Given the description of an element on the screen output the (x, y) to click on. 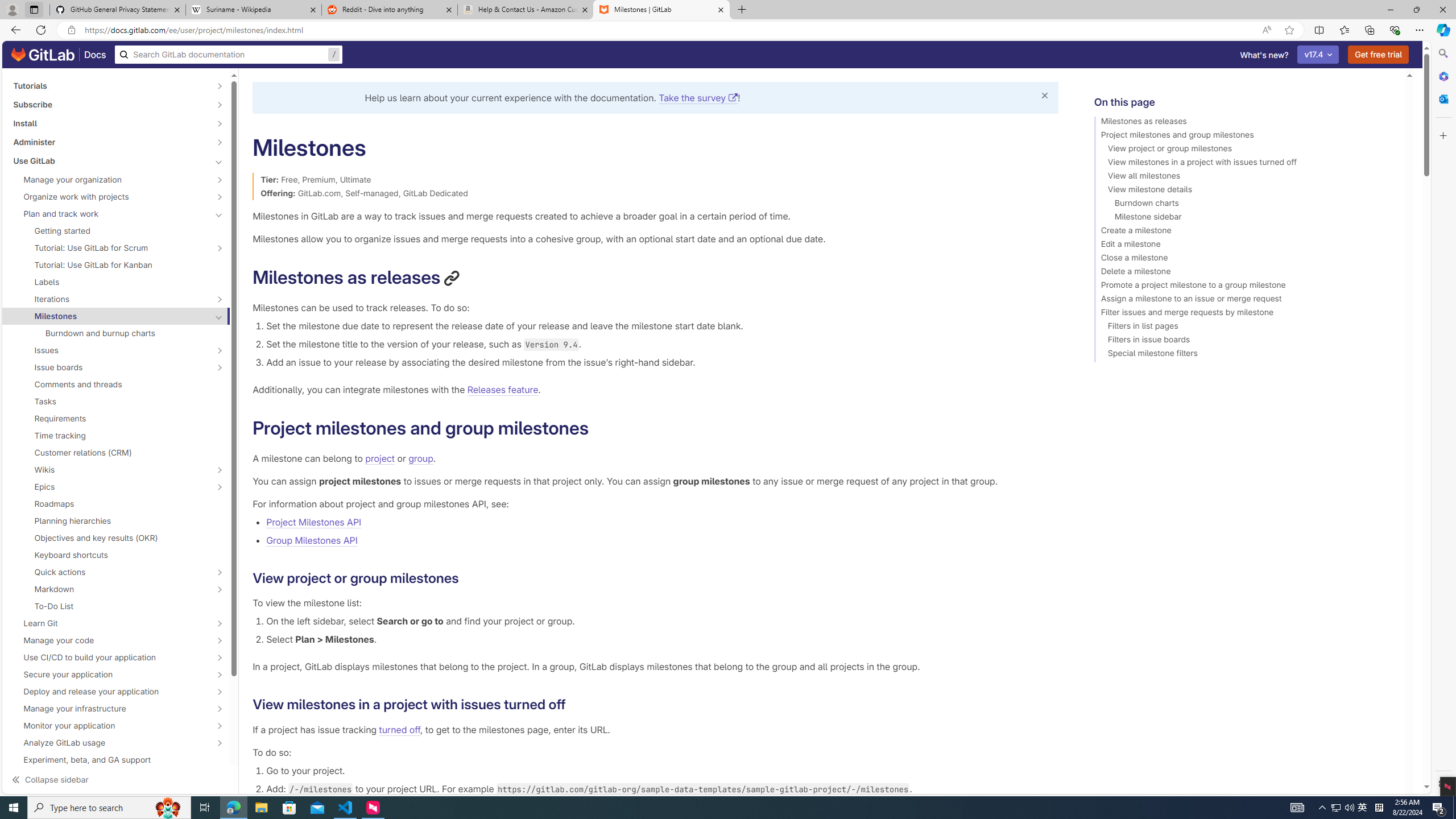
Tutorials (109, 85)
Delete a milestone (1244, 273)
Burndown and burnup charts (116, 333)
Close a milestone (1244, 259)
Find your GitLab version (116, 776)
Filters in list pages (1244, 327)
